Given the description of an element on the screen output the (x, y) to click on. 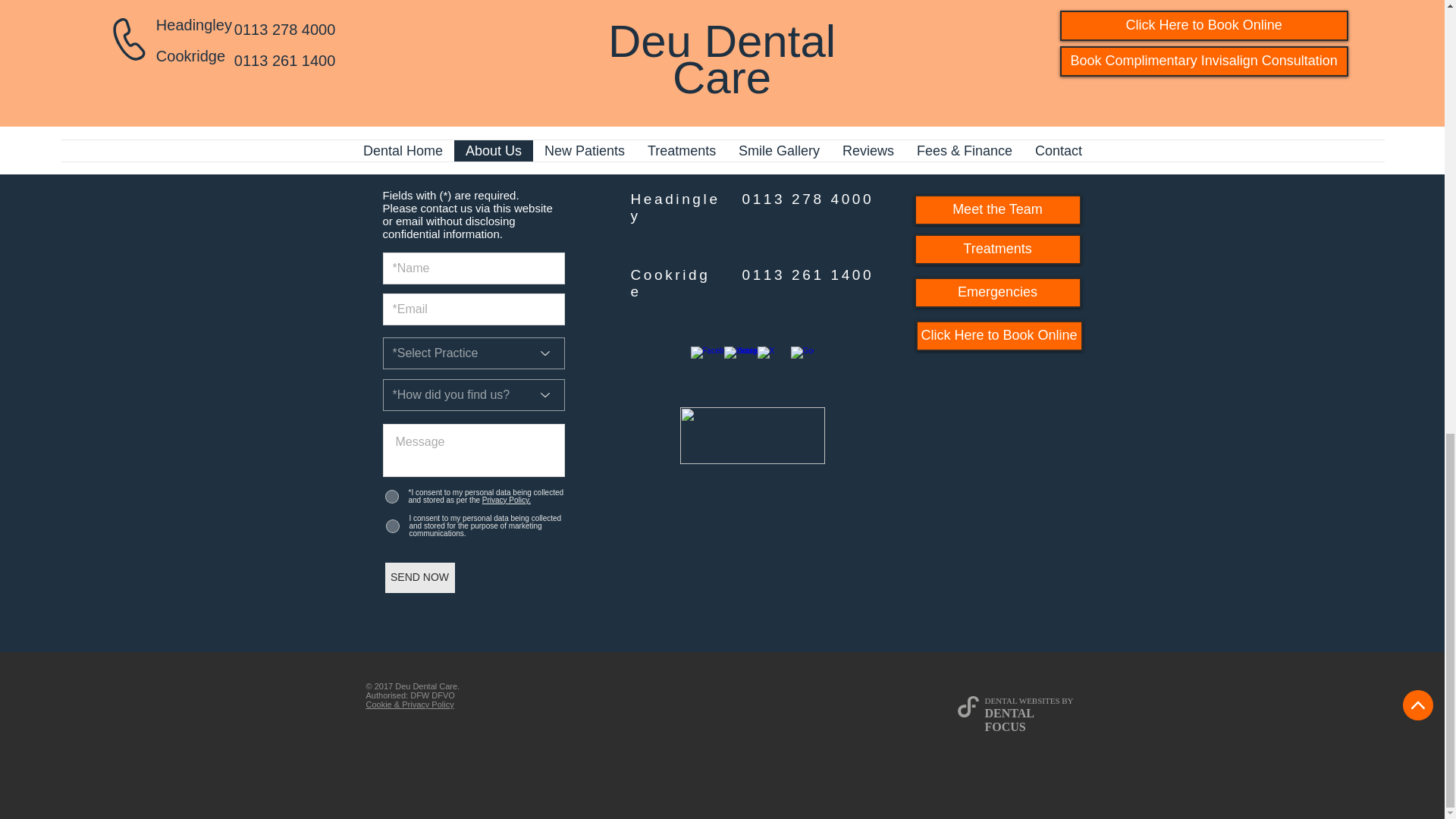
Treatments (997, 249)
Privacy Policy. (505, 500)
0113 261 1400 (807, 274)
DENTAL WEBSITES (1021, 700)
Click Here to Book Online (999, 336)
SEND NOW (419, 577)
Emergencies (997, 292)
Meet the Team (997, 209)
DENTAL FOCUS (1008, 719)
0113 278 4000 (807, 198)
